Given the description of an element on the screen output the (x, y) to click on. 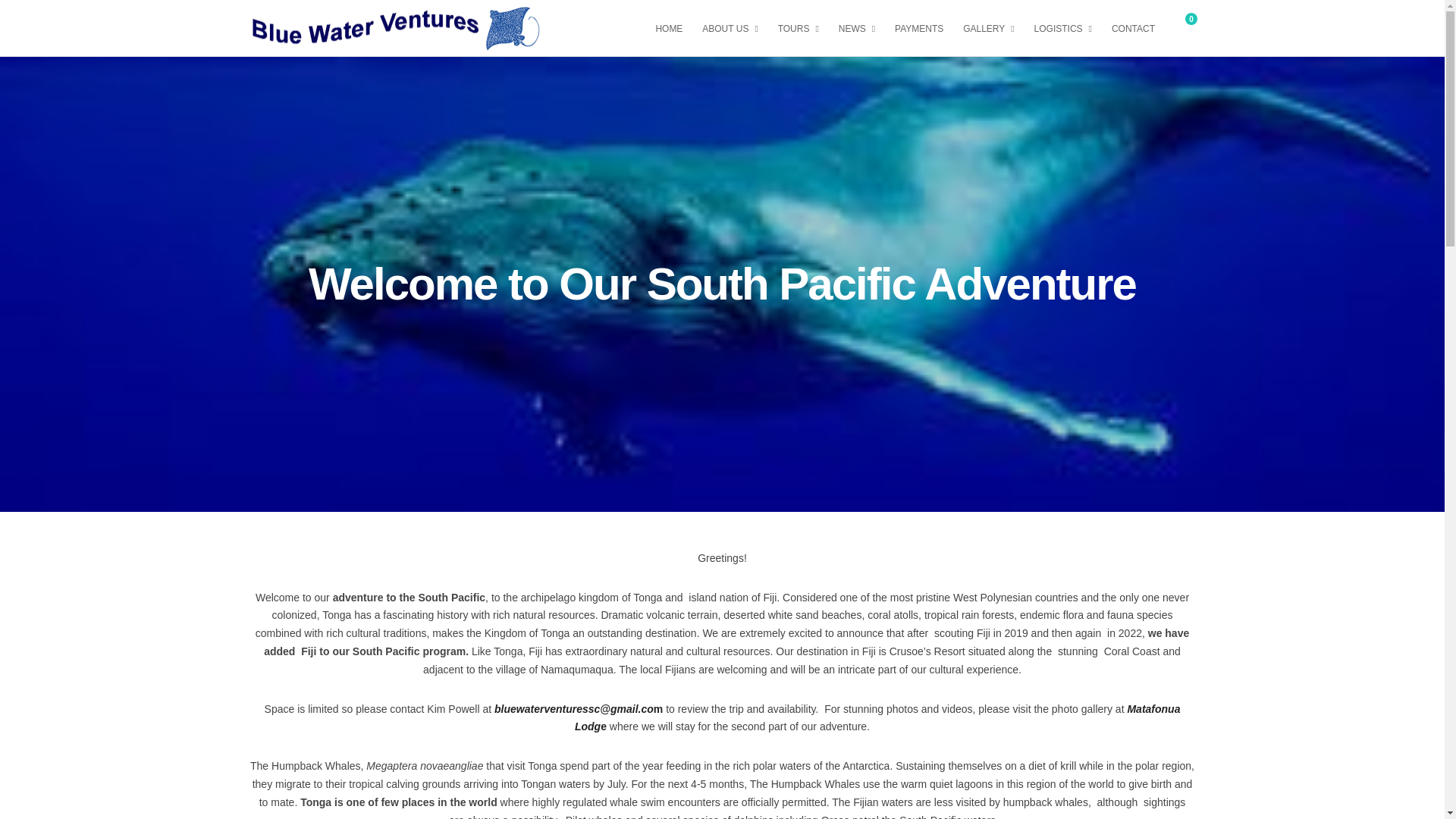
TOURS (804, 27)
View Cart (1182, 26)
HOME (675, 27)
ABOUT US (736, 27)
